Given the description of an element on the screen output the (x, y) to click on. 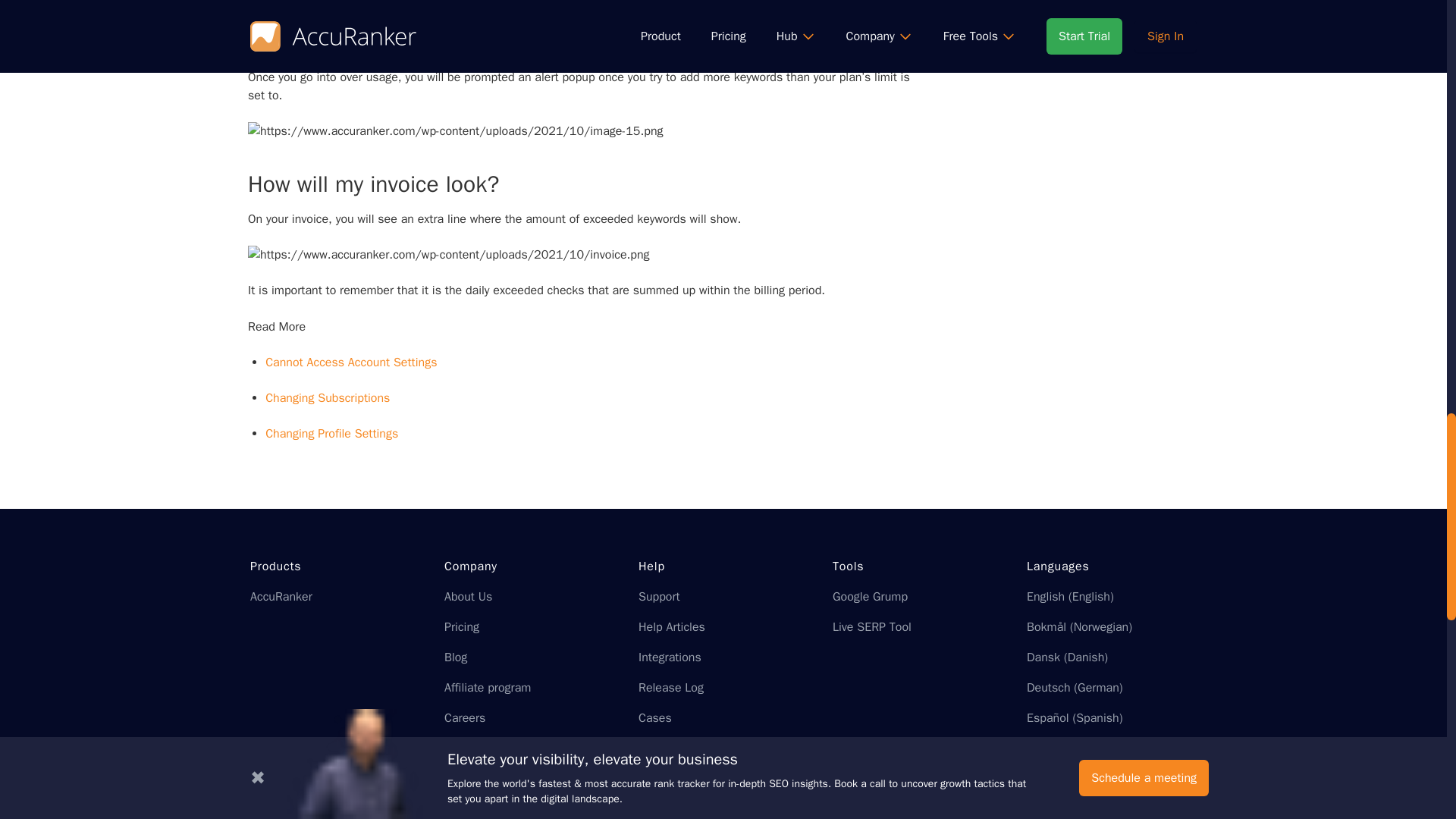
Affiliate program (487, 687)
Changing Subscriptions (327, 397)
Support (659, 596)
Blog (455, 657)
Pricing (461, 626)
AccuRanker (281, 596)
Cannot Access Account Settings (350, 362)
Press (459, 748)
About Us (468, 596)
Careers (464, 717)
